Given the description of an element on the screen output the (x, y) to click on. 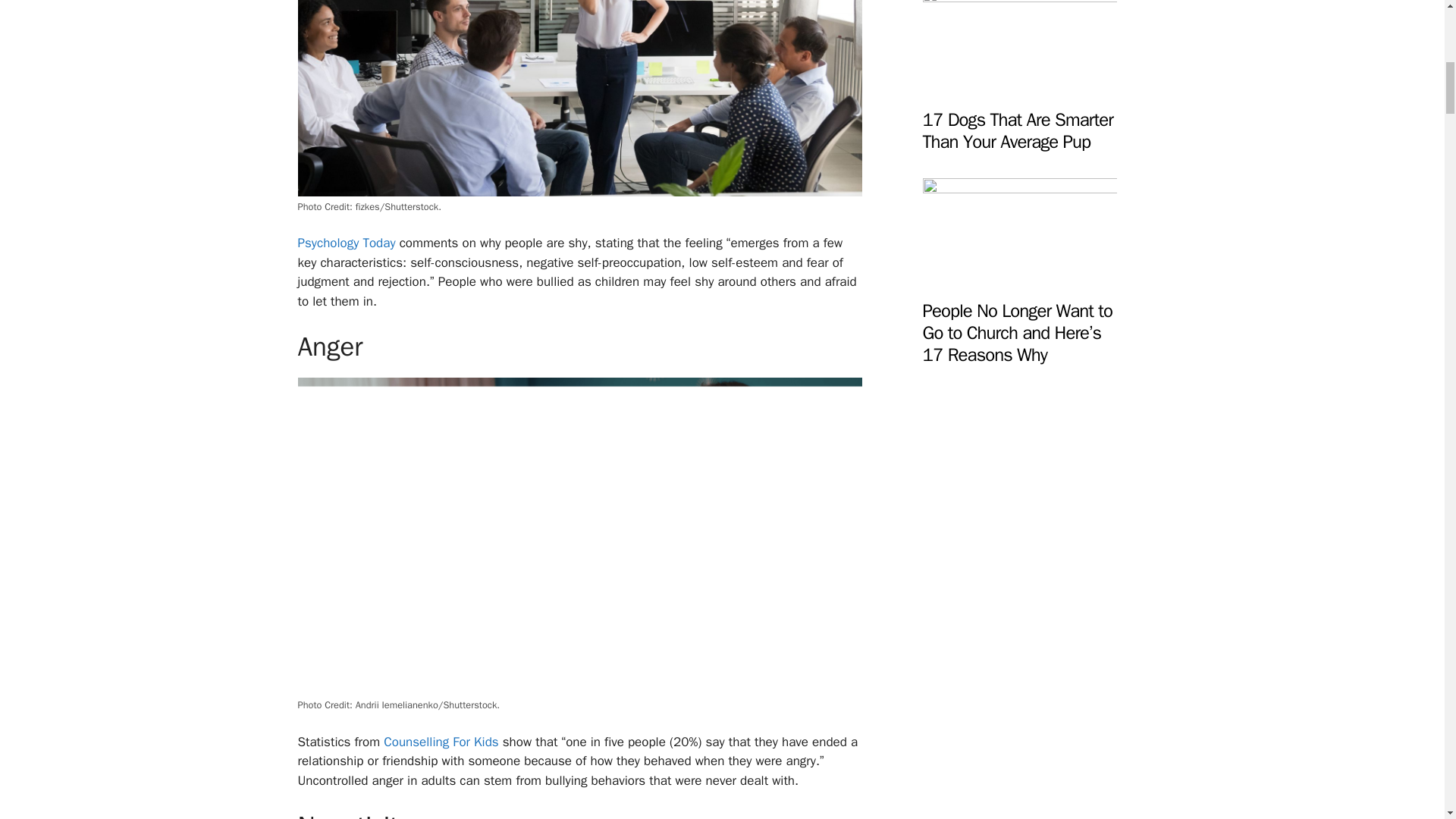
Psychology Today (345, 242)
Counselling For Kids (440, 741)
17 Dogs That Are Smarter Than Your Average Pup (1016, 130)
17 Dogs That Are Smarter Than Your Average Pup (1018, 85)
